Given the description of an element on the screen output the (x, y) to click on. 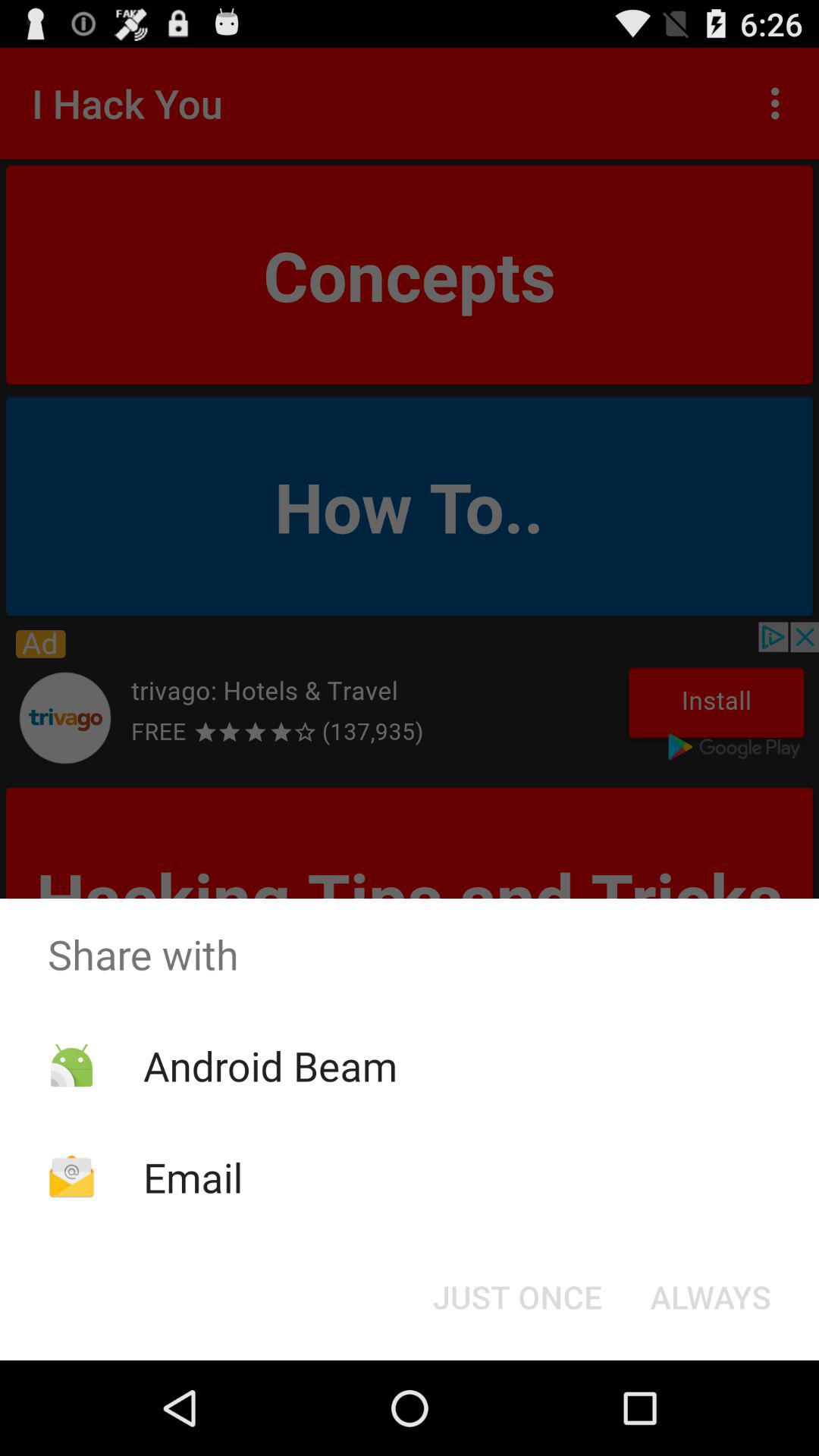
click icon below the android beam app (192, 1176)
